Given the description of an element on the screen output the (x, y) to click on. 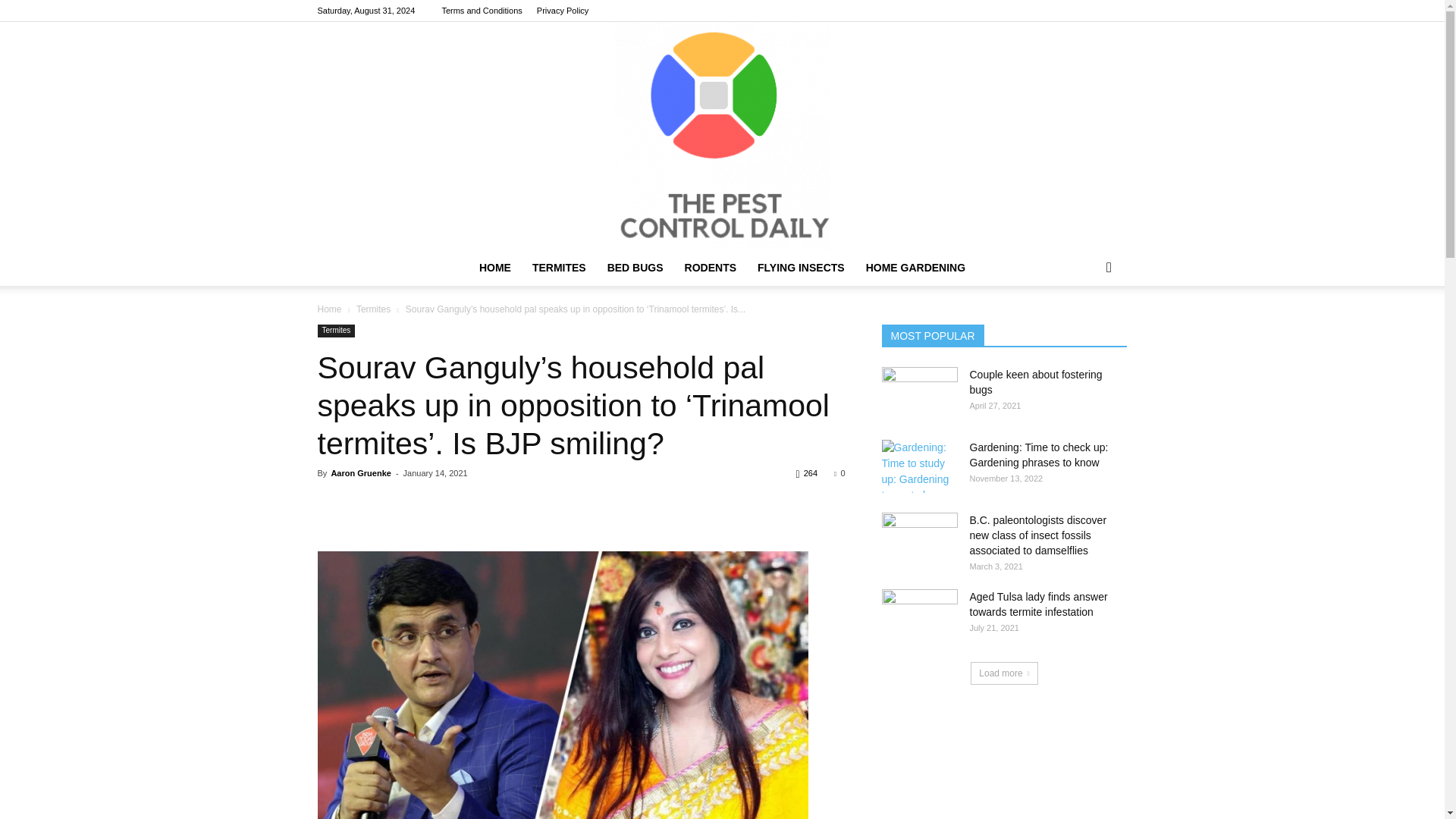
Termites (373, 308)
HOME GARDENING (915, 267)
Privacy Policy (562, 10)
TERMITES (558, 267)
Search (1085, 328)
Terms and Conditions (481, 10)
RODENTS (710, 267)
View all posts in Termites (373, 308)
Aaron Gruenke (360, 472)
Home (328, 308)
